Given the description of an element on the screen output the (x, y) to click on. 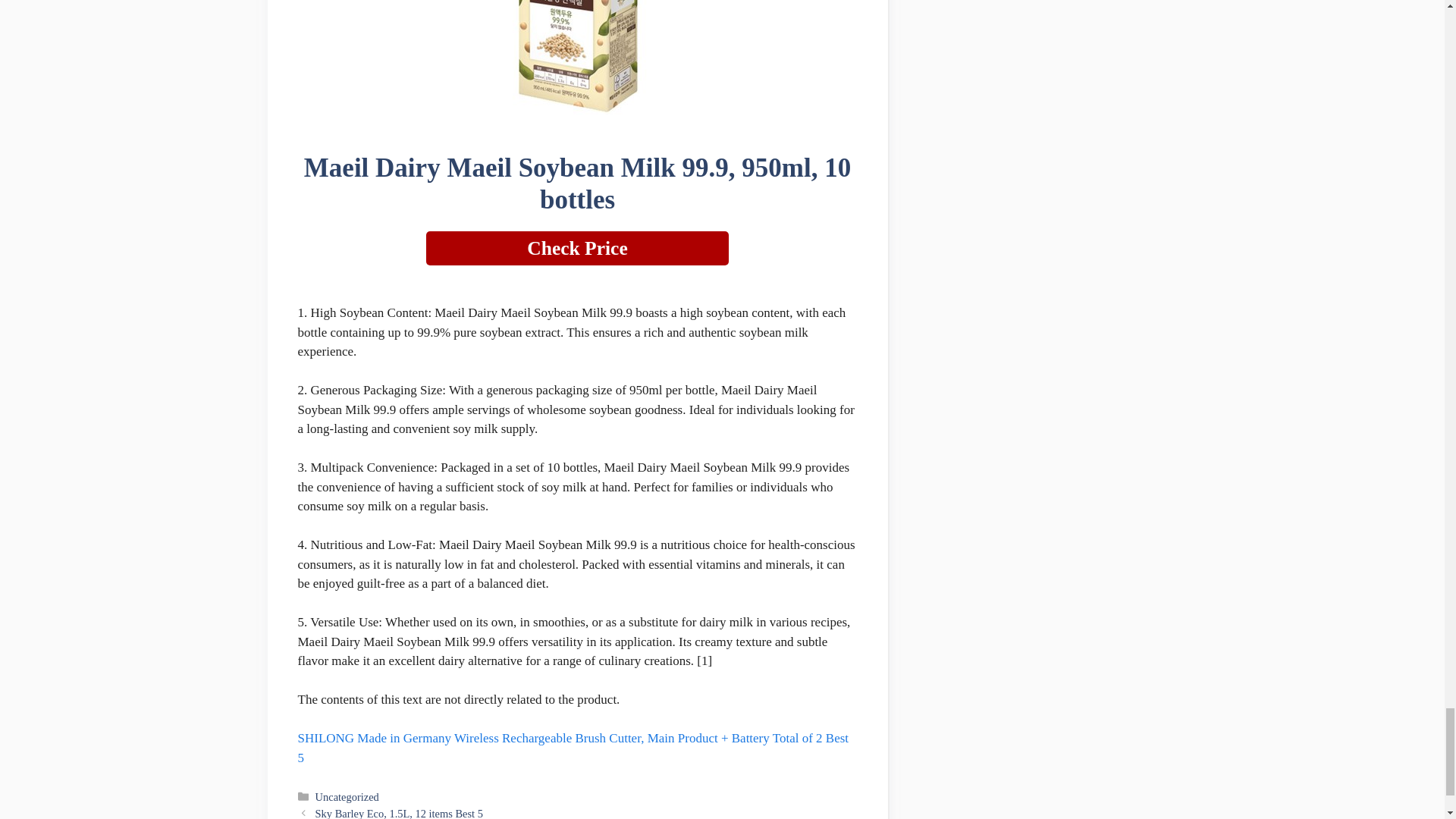
Uncategorized (346, 797)
Sky Barley Eco, 1.5L, 12 items Best 5 (399, 813)
Check Price (577, 247)
